Given the description of an element on the screen output the (x, y) to click on. 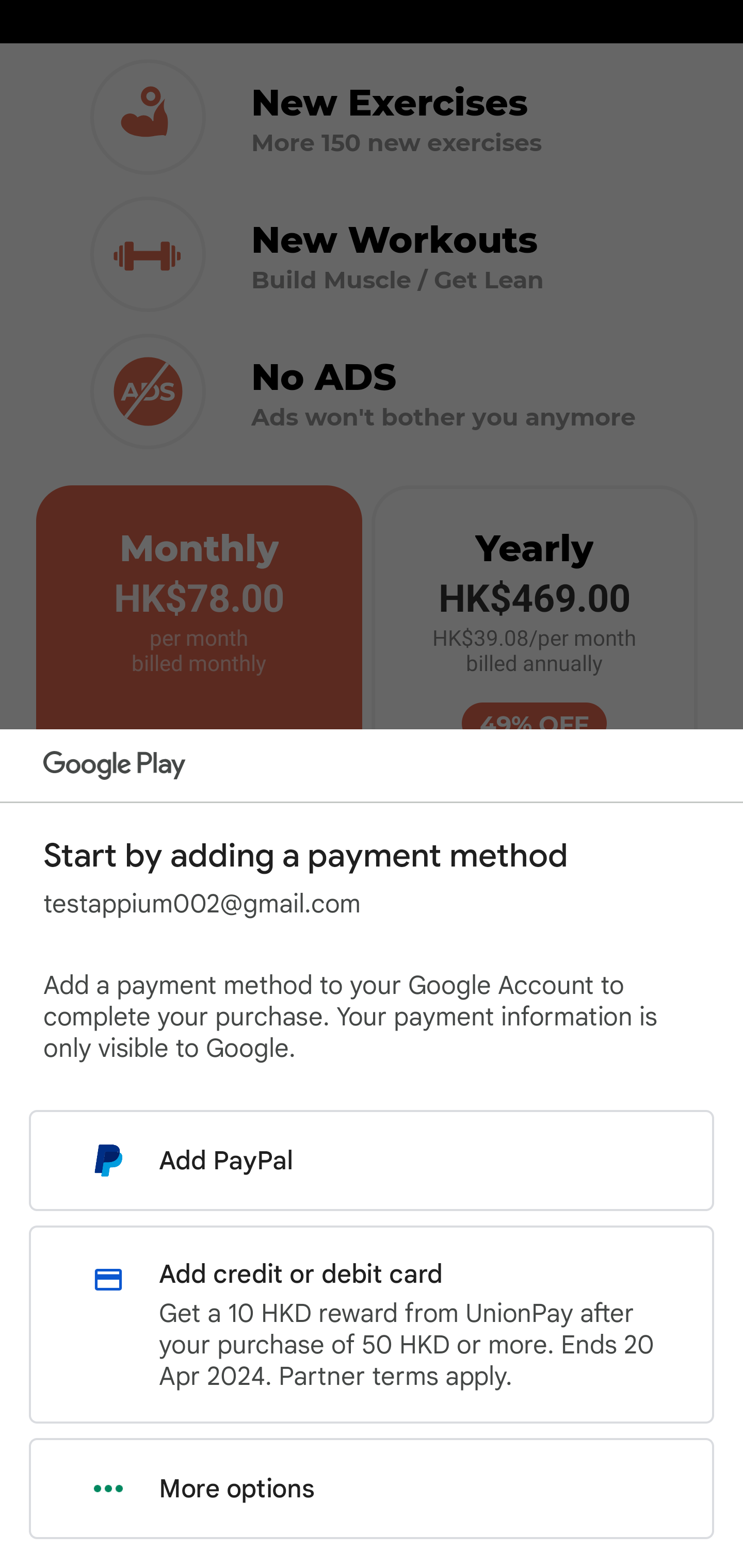
Add PayPal (371, 1160)
More options (371, 1488)
